Given the description of an element on the screen output the (x, y) to click on. 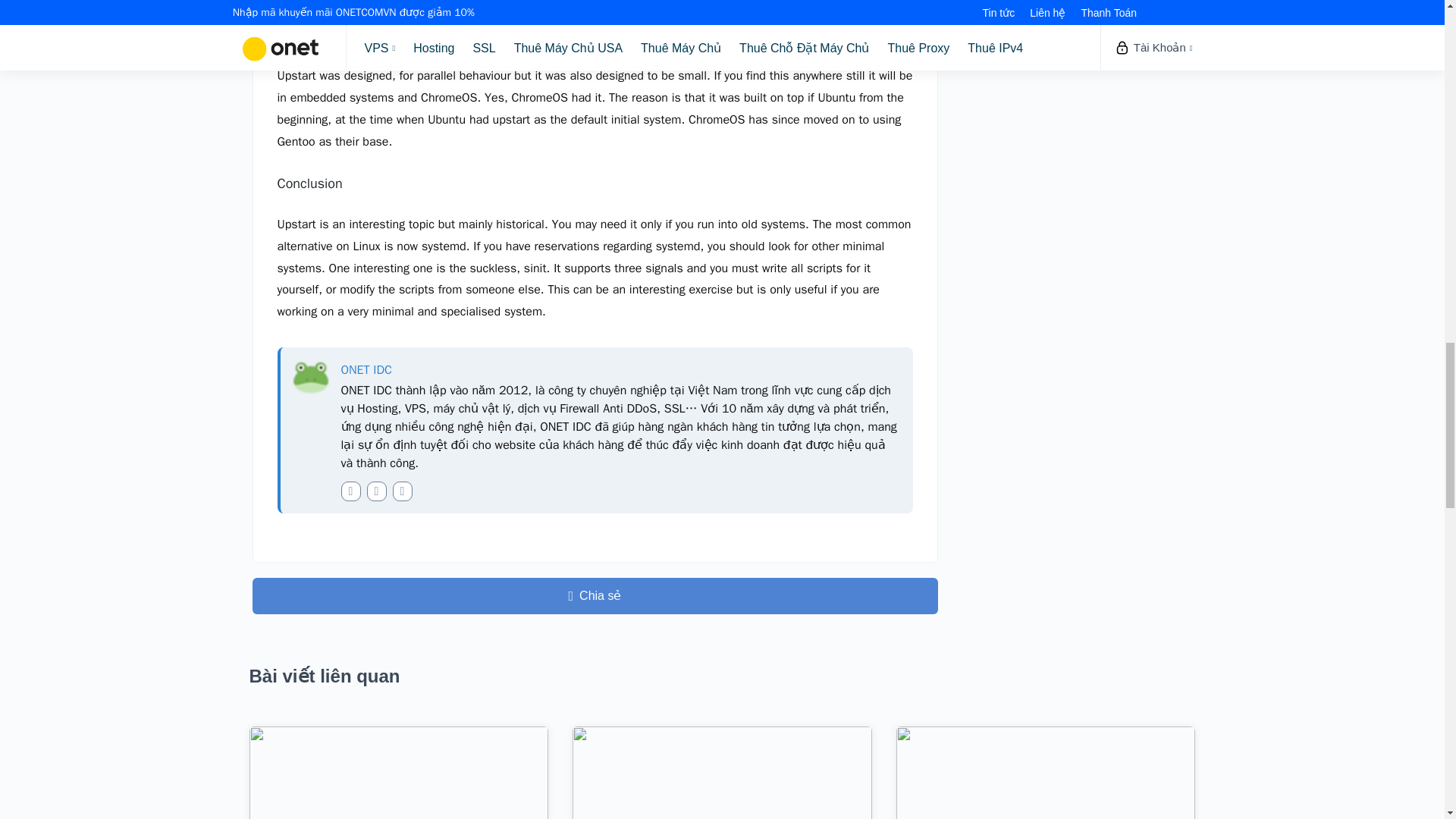
ONET IDC (365, 369)
